Given the description of an element on the screen output the (x, y) to click on. 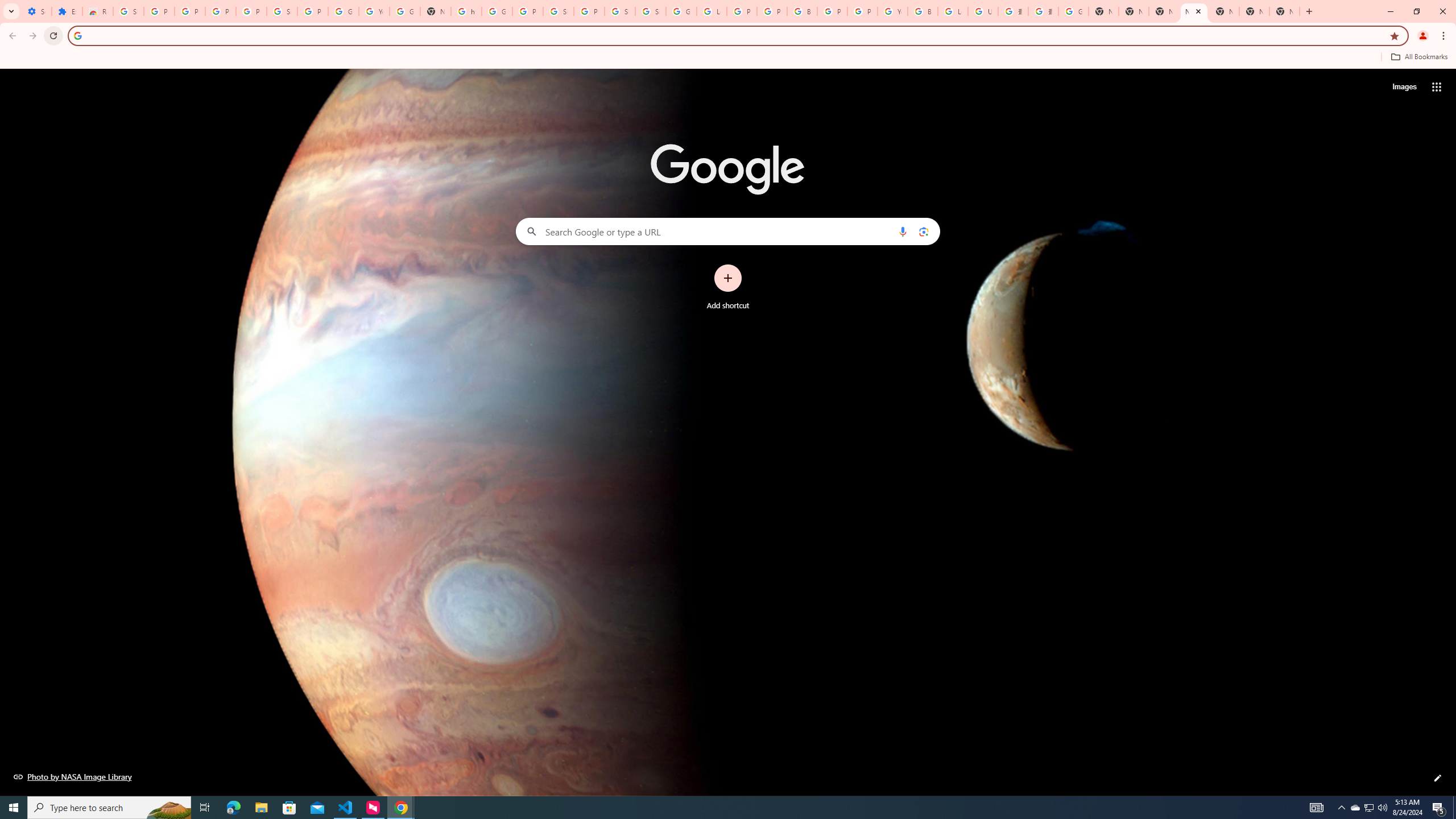
Bookmarks (728, 58)
Photo by NASA Image Library (72, 776)
Privacy Help Center - Policies Help (741, 11)
Sign in - Google Accounts (282, 11)
Search Google or type a URL (727, 230)
Privacy Help Center - Policies Help (771, 11)
